Given the description of an element on the screen output the (x, y) to click on. 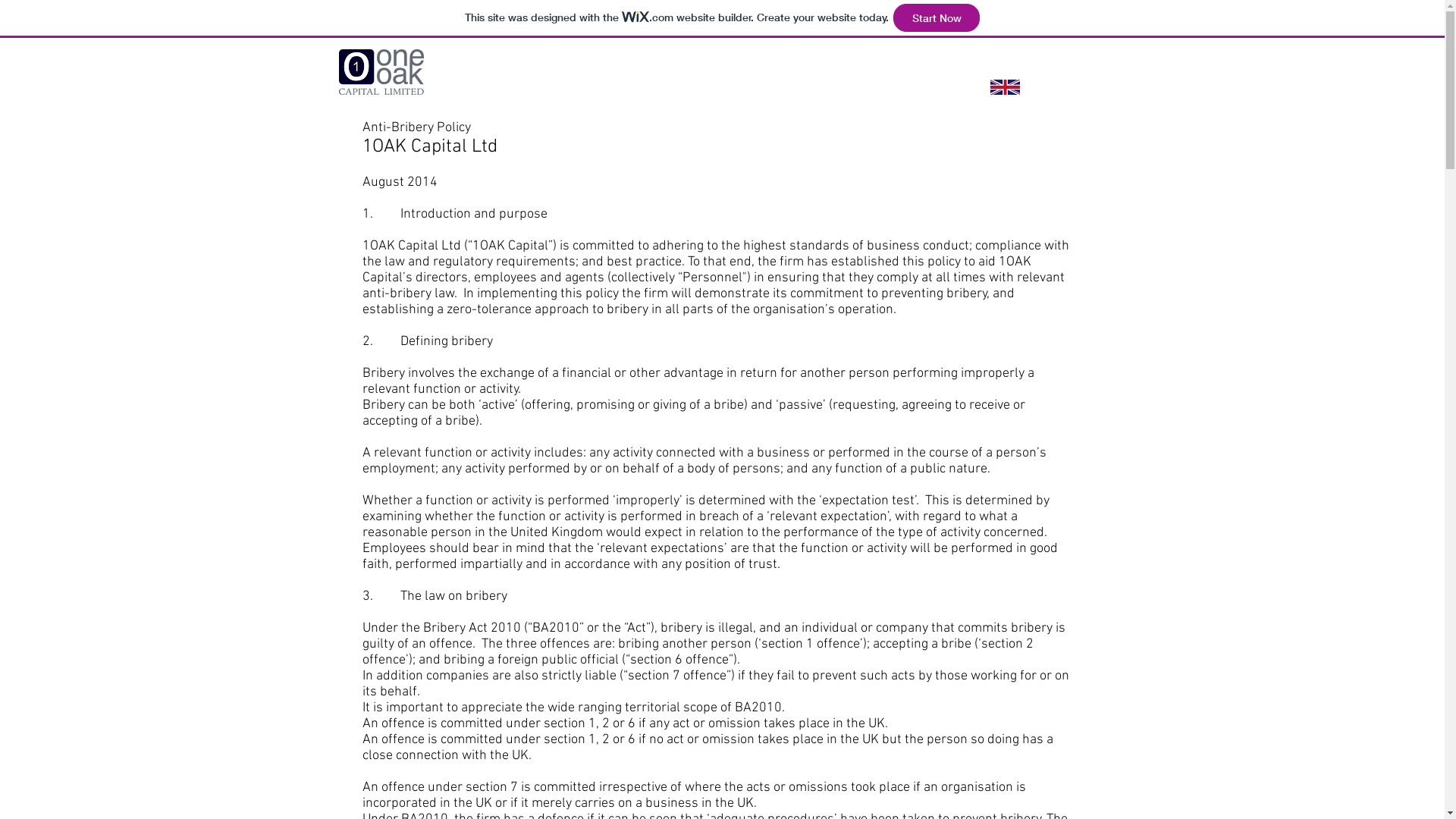
Contatti Element type: text (868, 64)
Governance Element type: text (635, 64)
Team Element type: text (770, 64)
1OAK Financial Group Element type: text (1004, 64)
Home Element type: text (487, 64)
